Given the description of an element on the screen output the (x, y) to click on. 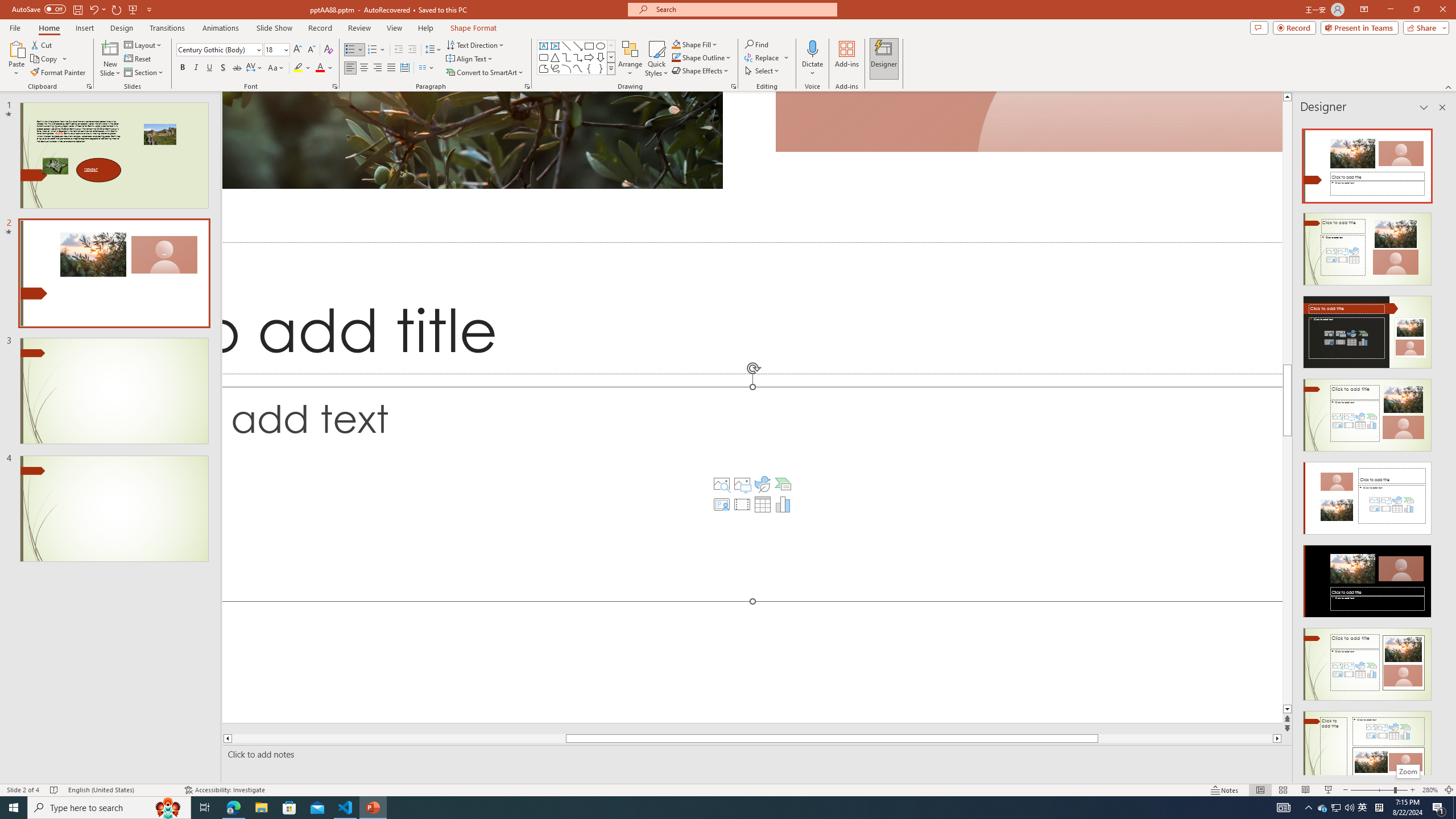
Curve (577, 68)
Replace... (762, 56)
Insert a SmartArt Graphic (783, 484)
Isosceles Triangle (554, 57)
Bold (182, 67)
Right Brace (600, 68)
Content Placeholder (752, 494)
Row Down (611, 56)
Increase Indent (412, 49)
Insert (83, 28)
Change Case (276, 67)
Align Left (349, 67)
Font Color (324, 67)
AutomationID: ShapesInsertGallery (576, 57)
Shape Outline (701, 56)
